Given the description of an element on the screen output the (x, y) to click on. 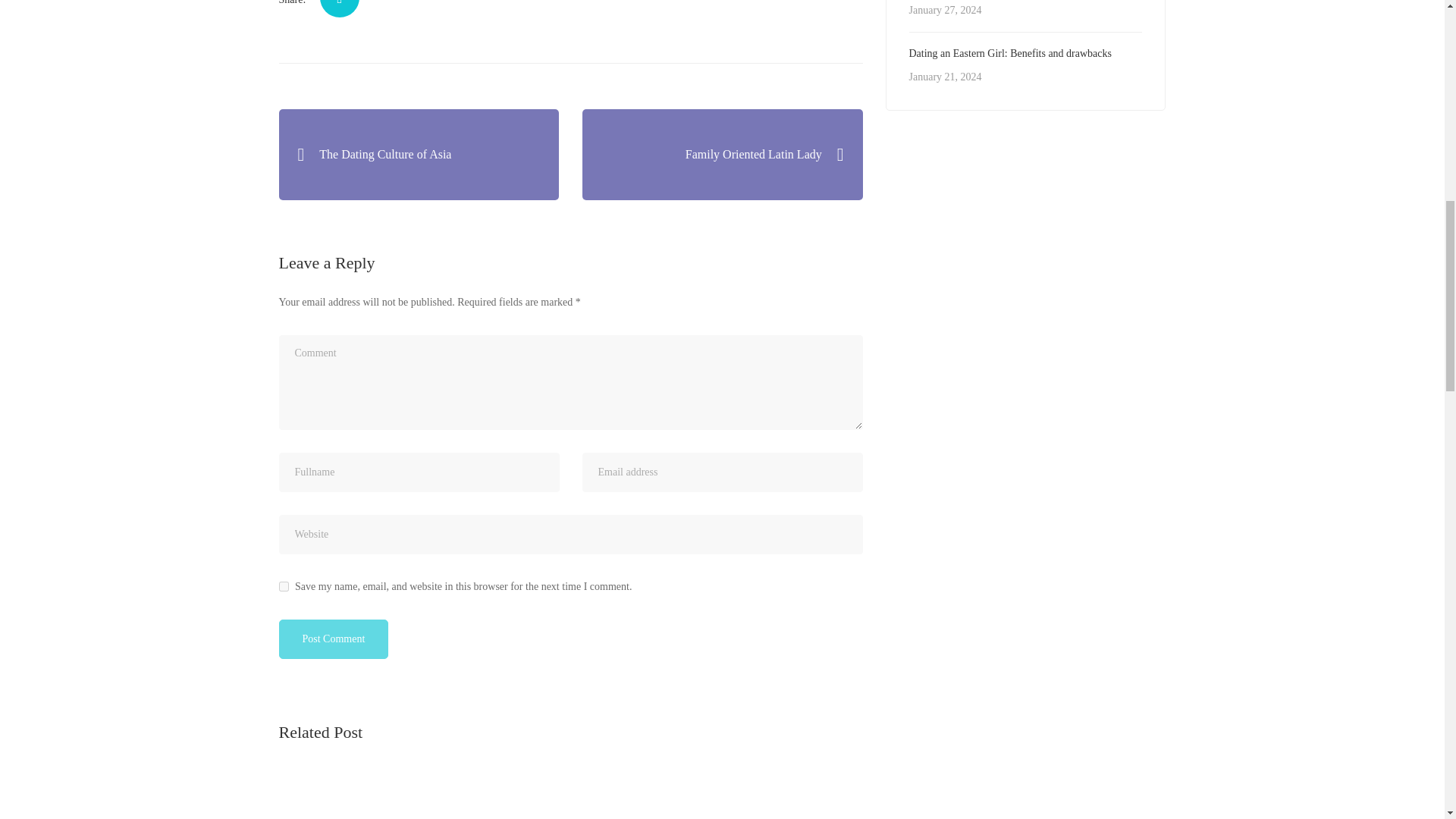
yes (283, 586)
Post Comment (333, 639)
Family Oriented Latin Lady (722, 153)
The Dating Culture of Asia (419, 153)
Post Comment (333, 639)
